Given the description of an element on the screen output the (x, y) to click on. 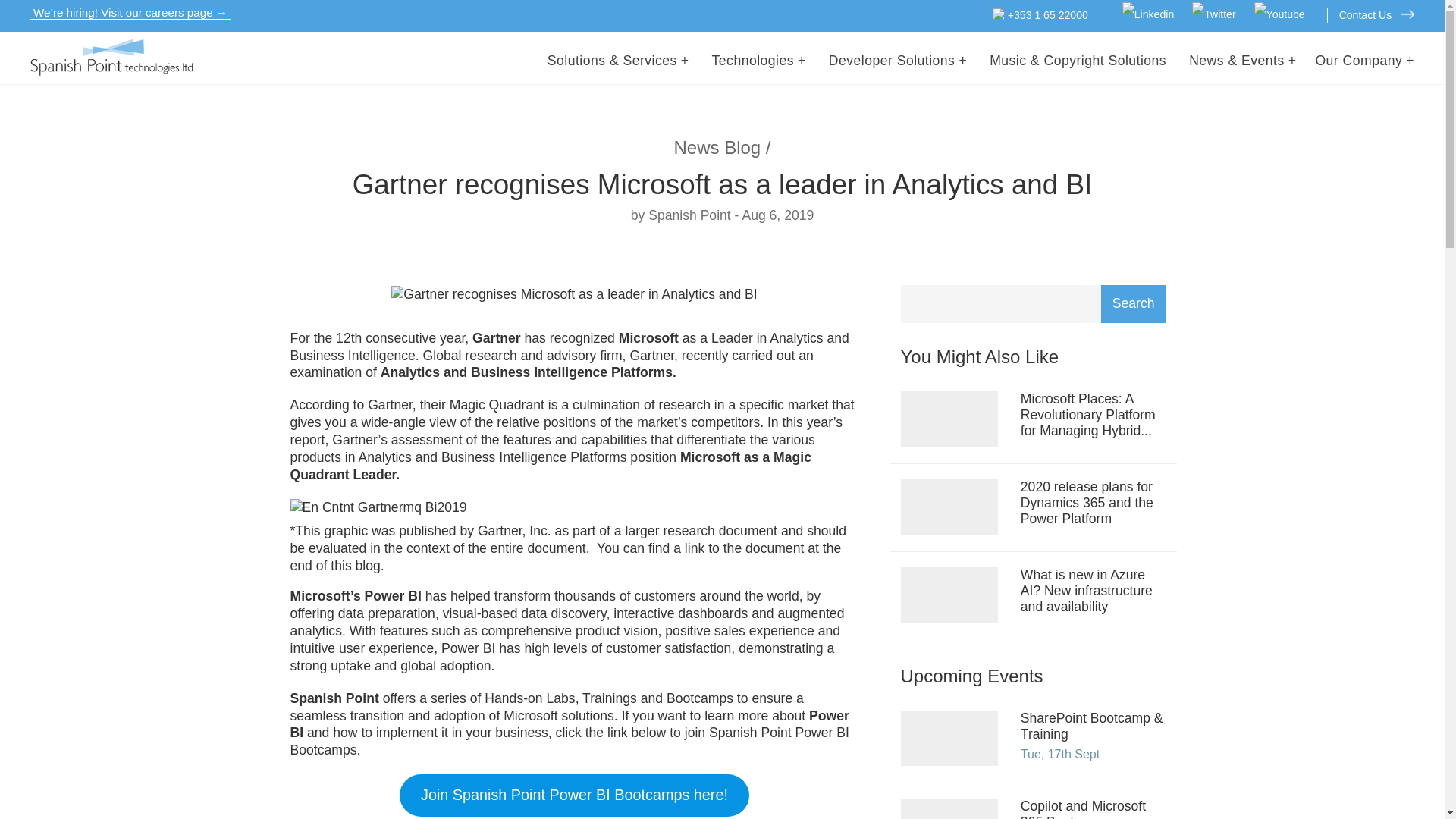
Technologies (758, 60)
Search (1133, 303)
Developer Solutions (897, 60)
Spanish Point Twitter (1213, 15)
Contact Us   (1376, 15)
Spanish Point Linkedin (1147, 15)
Our Company (1363, 60)
Spanish Point Technologies (111, 56)
Gartner recognises Microsoft as a leader in Analytics and BI (574, 294)
Spanish Point YouTube (1278, 15)
